Given the description of an element on the screen output the (x, y) to click on. 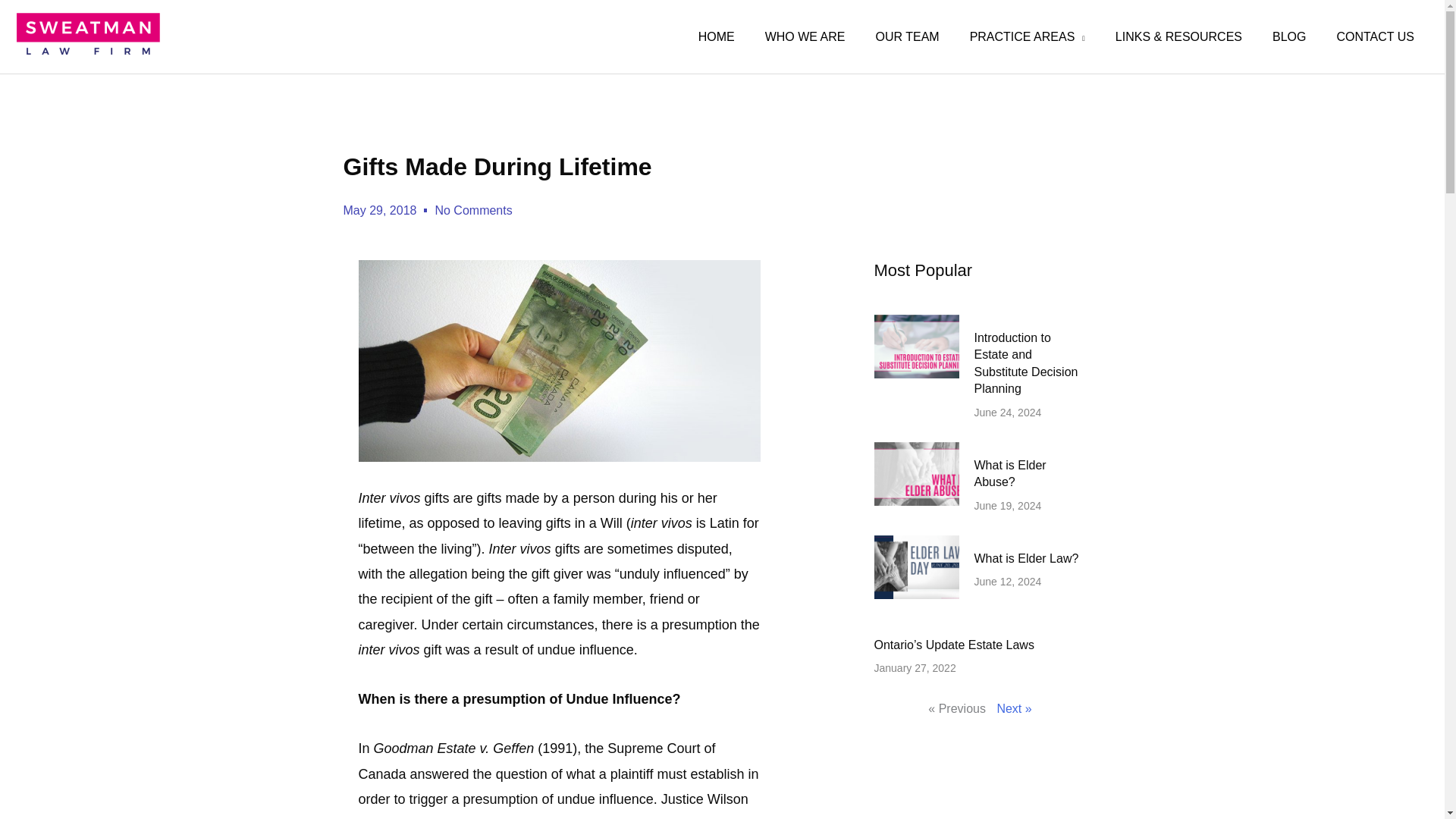
WHO WE ARE (804, 36)
HOME (715, 36)
PRACTICE AREAS (1027, 36)
OUR TEAM (906, 36)
